Given the description of an element on the screen output the (x, y) to click on. 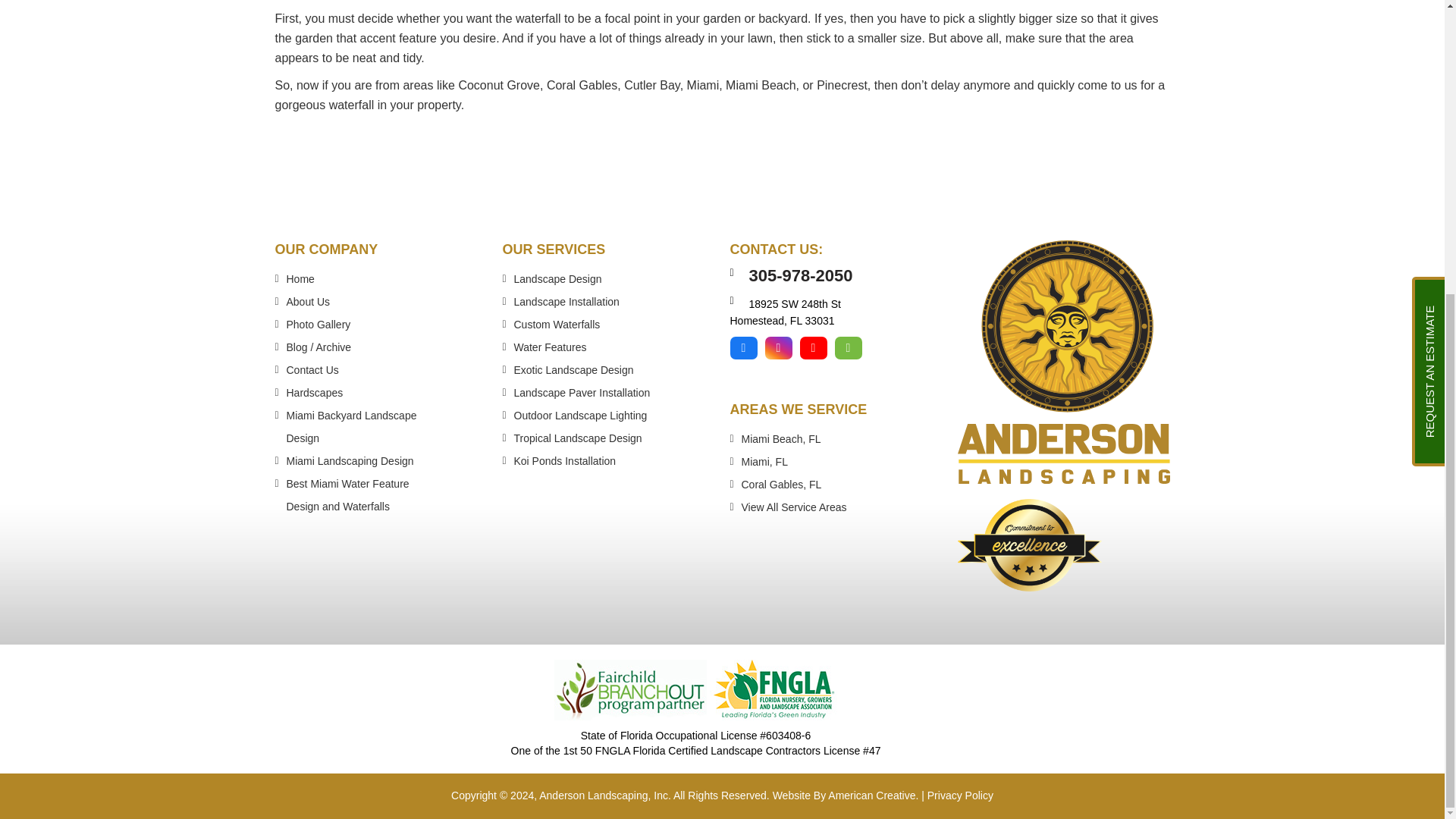
Koi Ponds Installation (564, 460)
Contact Us (312, 369)
Hardscapes (314, 392)
305-978-2050 (801, 275)
Water Features (549, 346)
Outdoor Landscape Lighting (580, 415)
Exotic Landscape Design (573, 369)
Custom Waterfalls (556, 324)
Landscape Paver Installation (581, 392)
Houzz (847, 347)
